Given the description of an element on the screen output the (x, y) to click on. 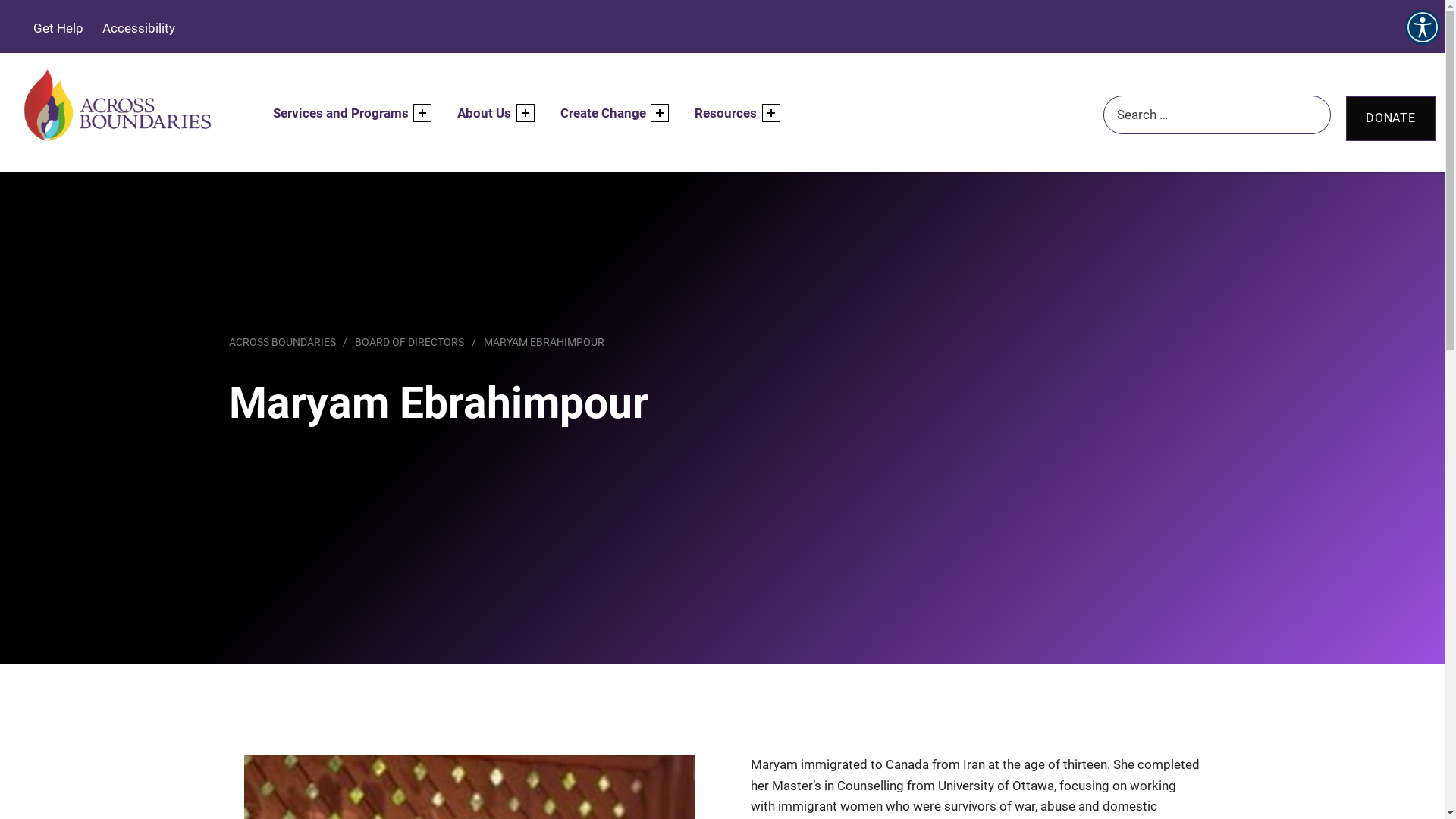
Get Help Element type: text (50, 27)
ACROSS BOUNDARIES Element type: text (282, 341)
Create Change Element type: text (605, 113)
DONATE Element type: text (1390, 118)
Accessibility Element type: text (130, 27)
Resources Element type: text (727, 113)
About Us Element type: text (486, 113)
Services and Programs Element type: text (343, 113)
BOARD OF DIRECTORS Element type: text (409, 341)
Search Element type: text (32, 18)
